Given the description of an element on the screen output the (x, y) to click on. 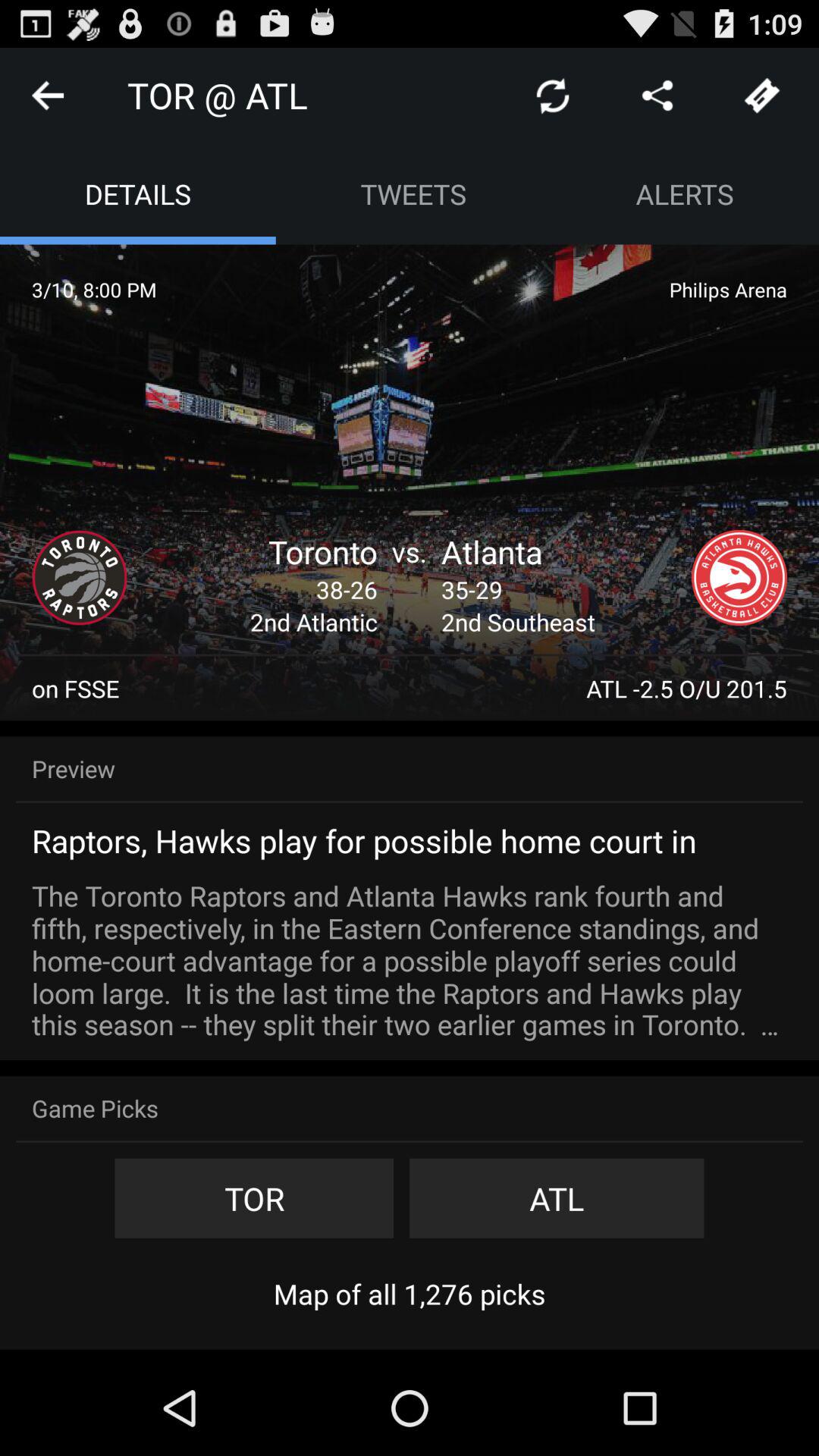
show directions (657, 95)
